Given the description of an element on the screen output the (x, y) to click on. 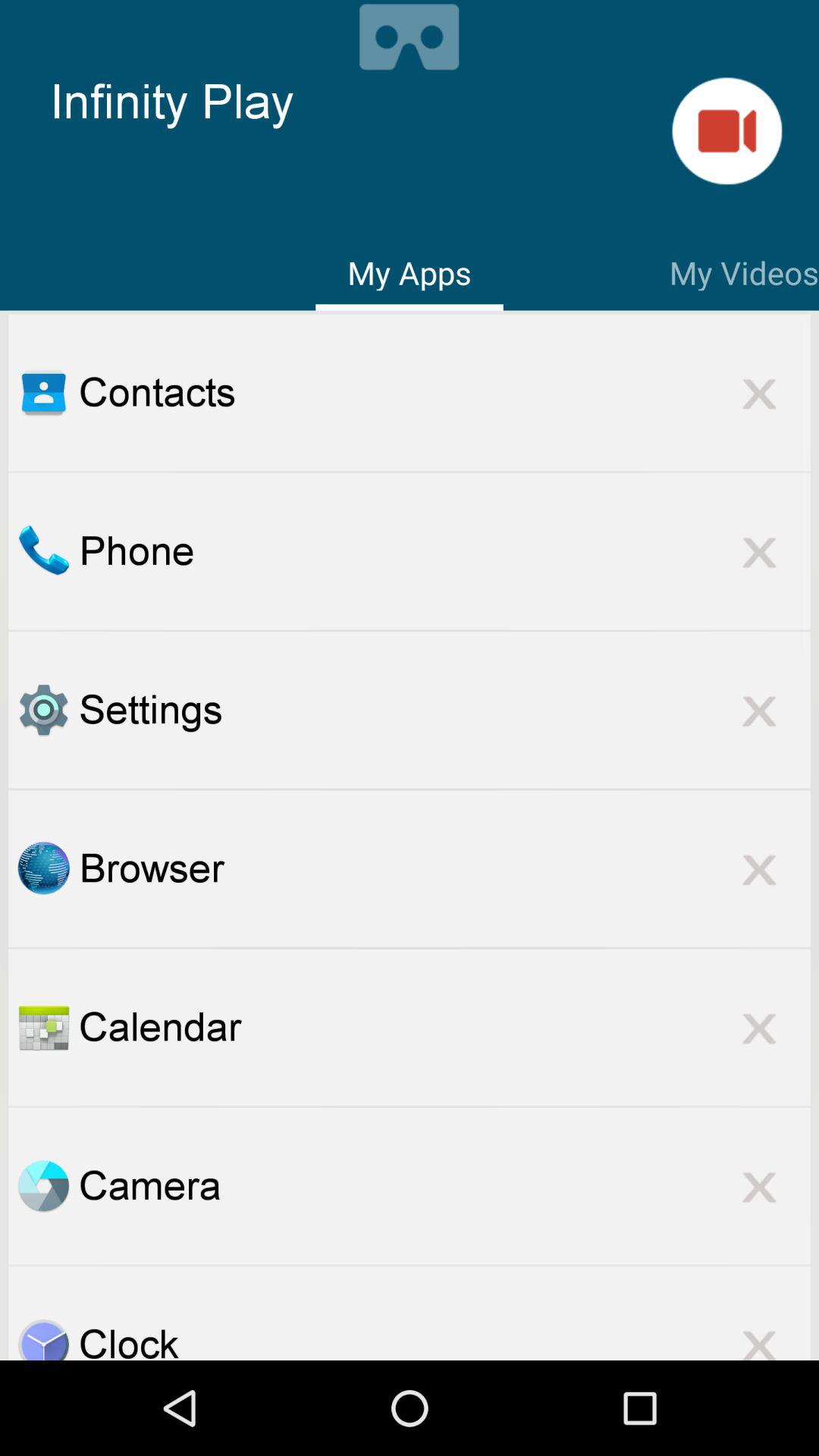
to delete (759, 1334)
